Given the description of an element on the screen output the (x, y) to click on. 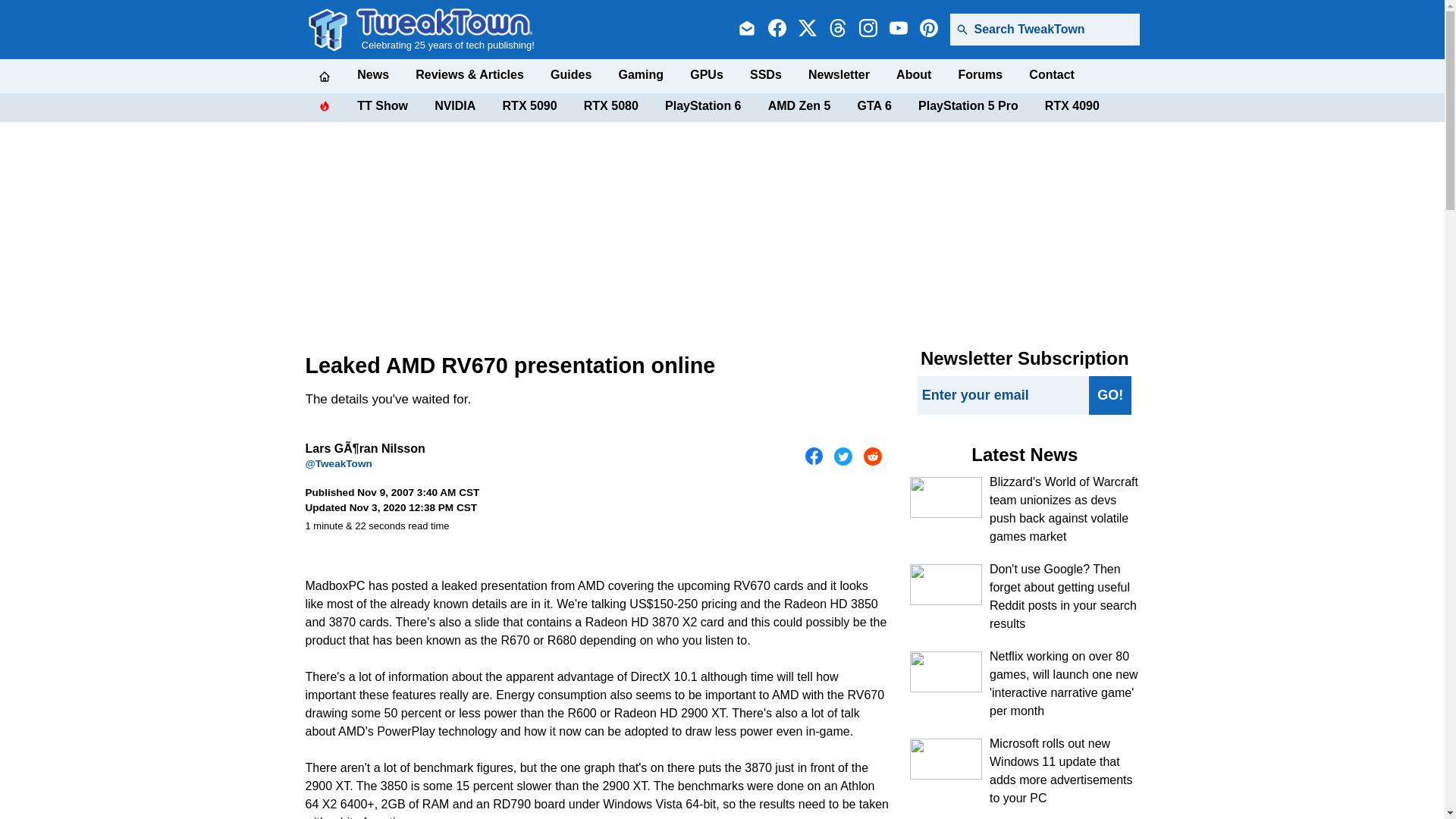
News (372, 74)
Celebrating 25 years of tech publishing! (445, 29)
GO! (1110, 394)
Share on Twitter (842, 456)
Share on Reddit (871, 456)
Share on Facebook (814, 456)
